Given the description of an element on the screen output the (x, y) to click on. 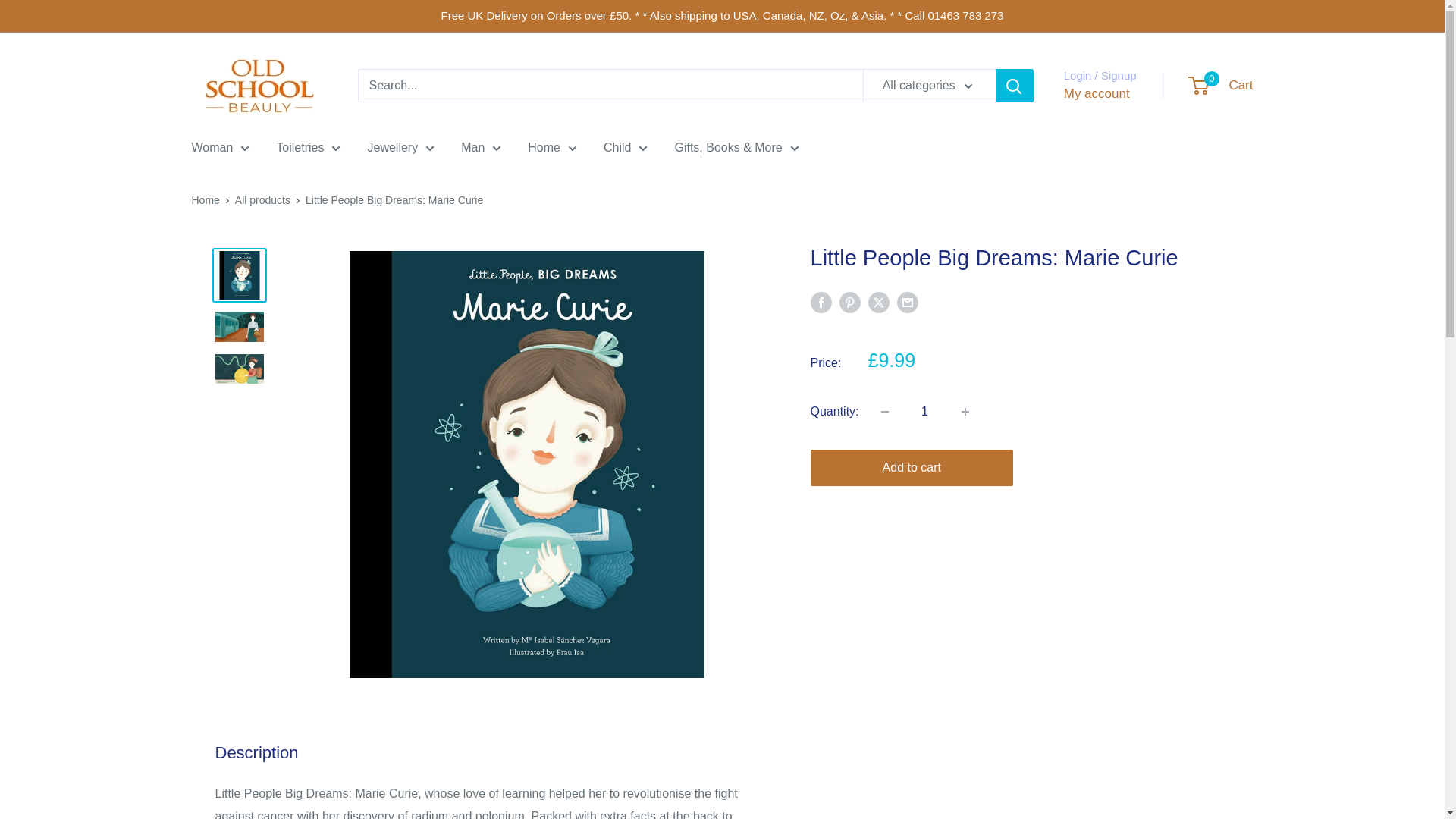
Decrease quantity by 1 (885, 411)
Increase quantity by 1 (965, 411)
1 (925, 411)
